Given the description of an element on the screen output the (x, y) to click on. 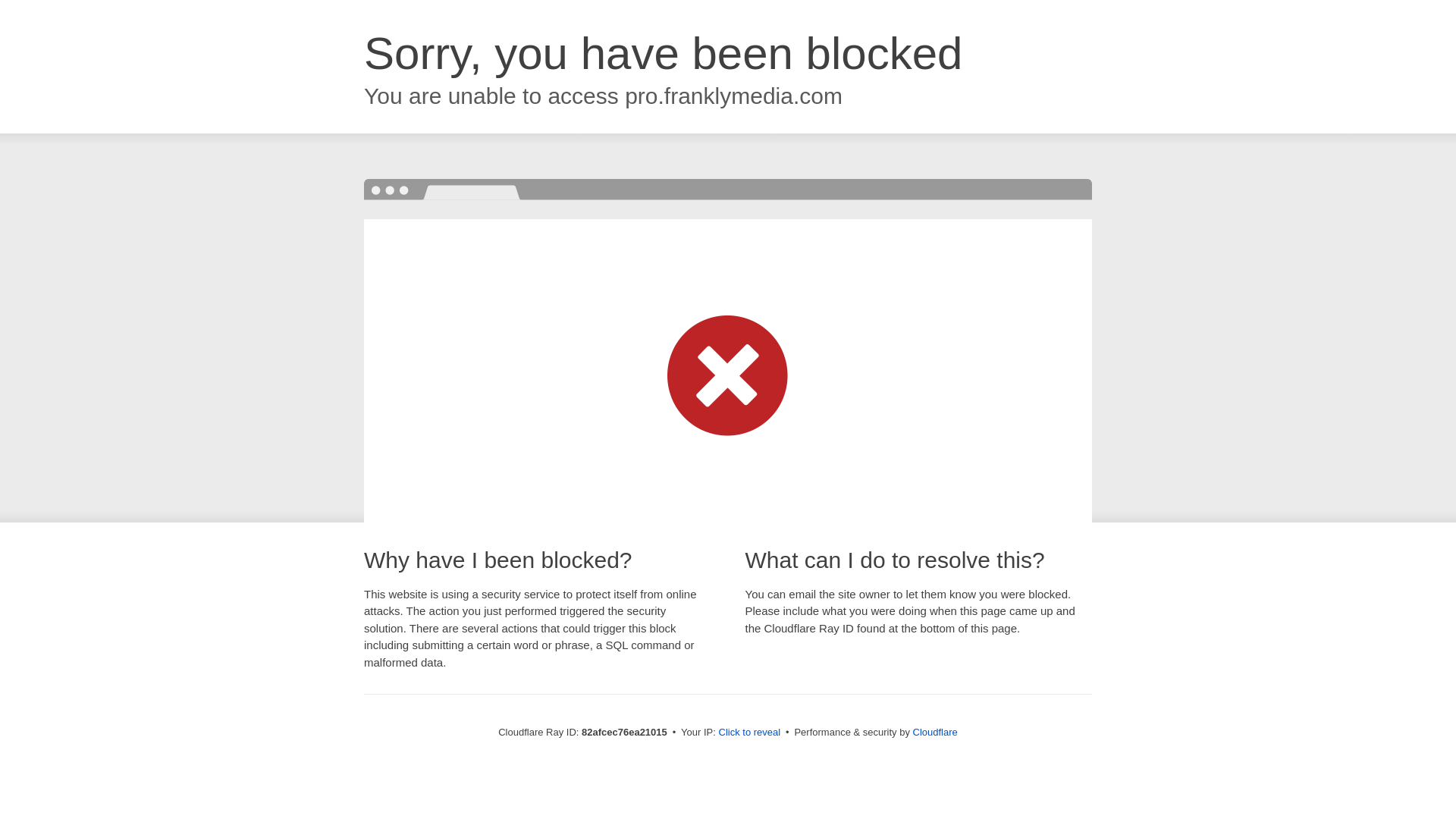
Cloudflare Element type: text (935, 731)
Click to reveal Element type: text (749, 732)
